Given the description of an element on the screen output the (x, y) to click on. 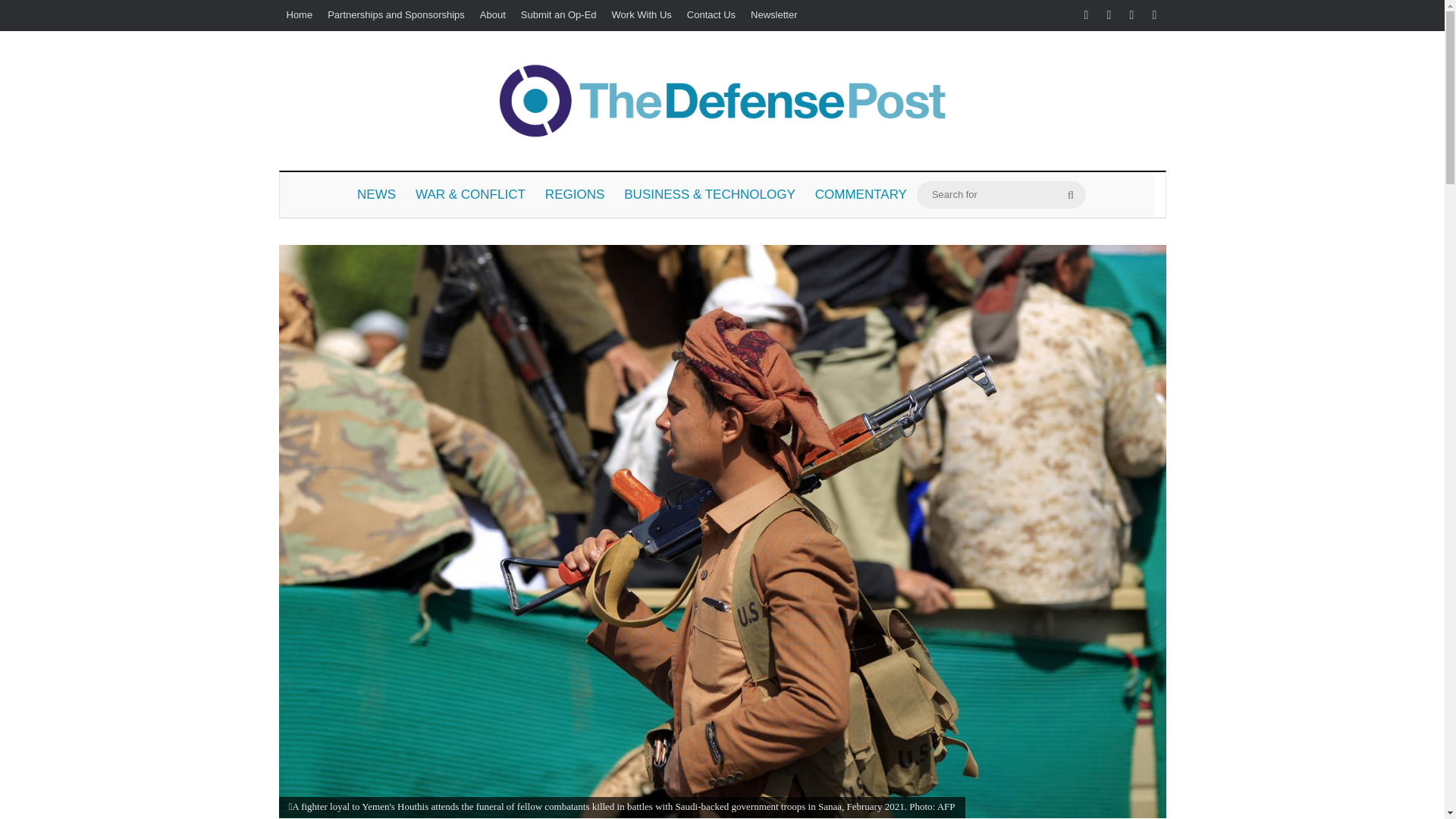
Newsletter (773, 15)
Partnerships and Sponsorships (395, 15)
Search for (1001, 194)
Contact Us (710, 15)
REGIONS (574, 194)
Work With Us (641, 15)
NEWS (376, 194)
Submit an Op-Ed (558, 15)
COMMENTARY (861, 194)
Search for (1070, 194)
